Given the description of an element on the screen output the (x, y) to click on. 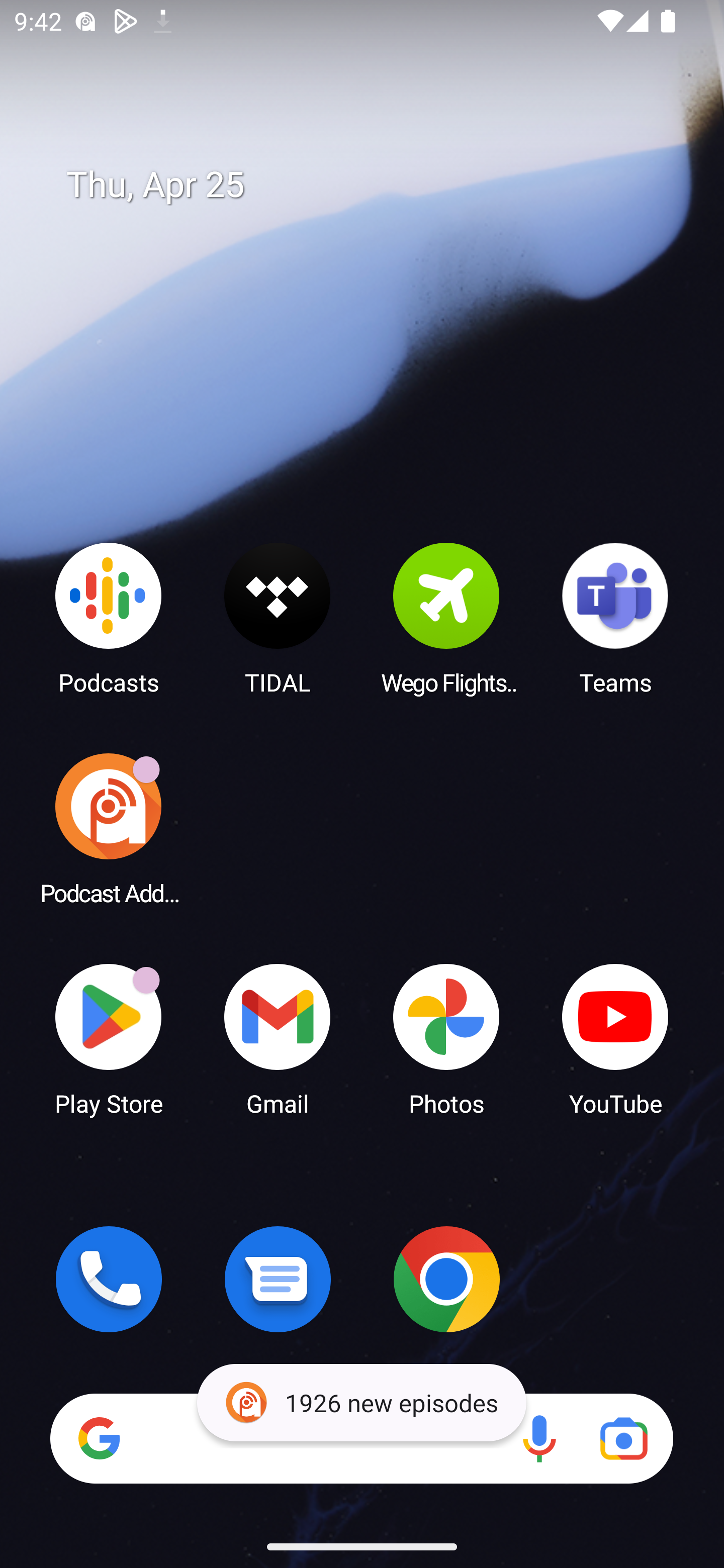
Thu, Apr 25 (375, 184)
Podcasts (108, 617)
TIDAL (277, 617)
Wego Flights & Hotels (445, 617)
Teams (615, 617)
Play Store Play Store has 1 notification (108, 1038)
Gmail (277, 1038)
Photos (445, 1038)
YouTube (615, 1038)
Phone (108, 1279)
Messages (277, 1279)
Chrome (446, 1279)
Search Voice search Google Lens (361, 1438)
Voice search (539, 1438)
Google Lens (623, 1438)
